Given the description of an element on the screen output the (x, y) to click on. 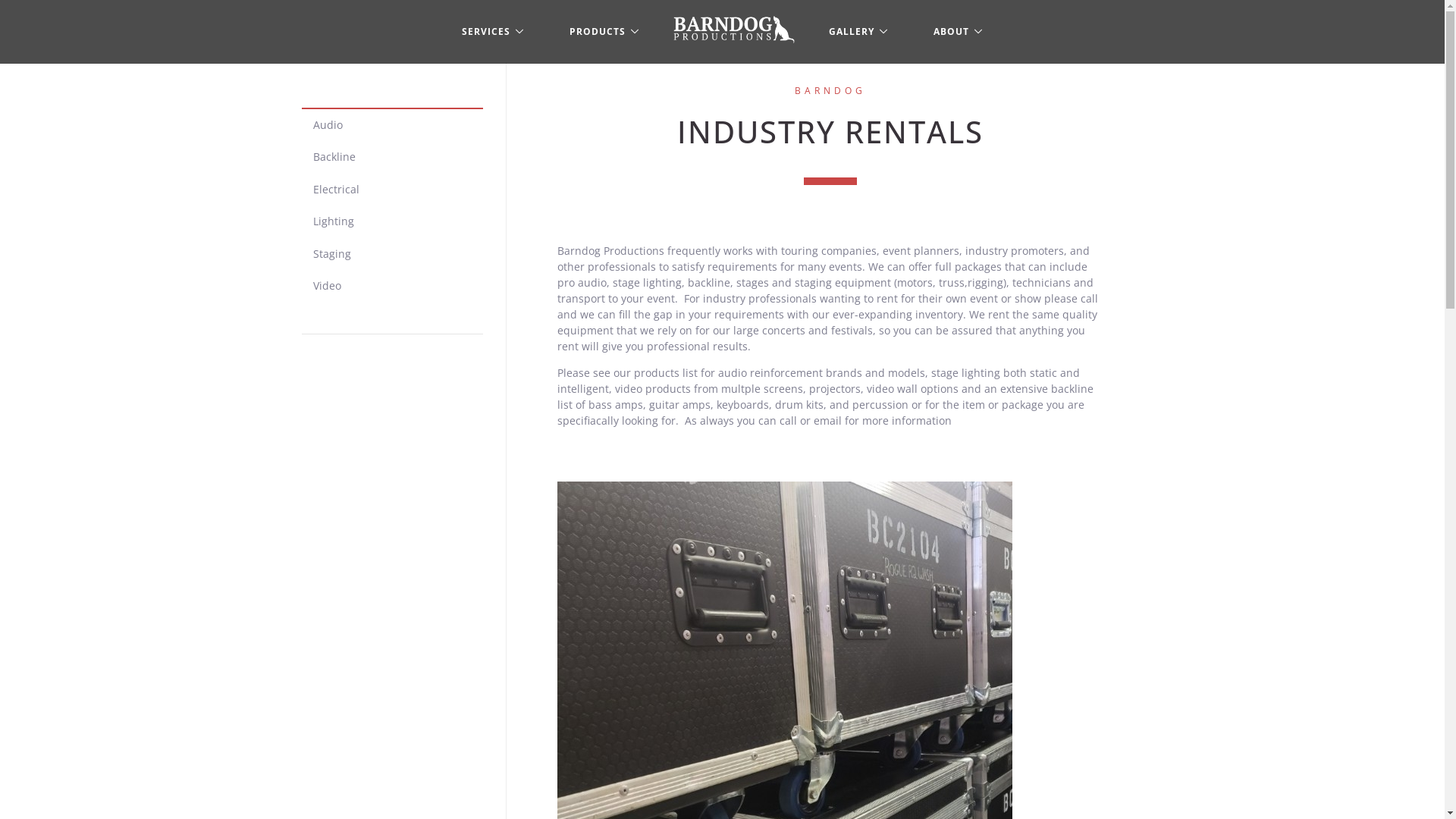
Lighting Element type: text (391, 221)
Electrical Element type: text (391, 189)
SERVICES Element type: text (492, 31)
Staging Element type: text (391, 253)
PRODUCTS Element type: text (604, 31)
ABOUT Element type: text (957, 31)
Backline Element type: text (391, 156)
Audio Element type: text (391, 124)
Video Element type: text (391, 285)
GALLERY Element type: text (858, 31)
